Given the description of an element on the screen output the (x, y) to click on. 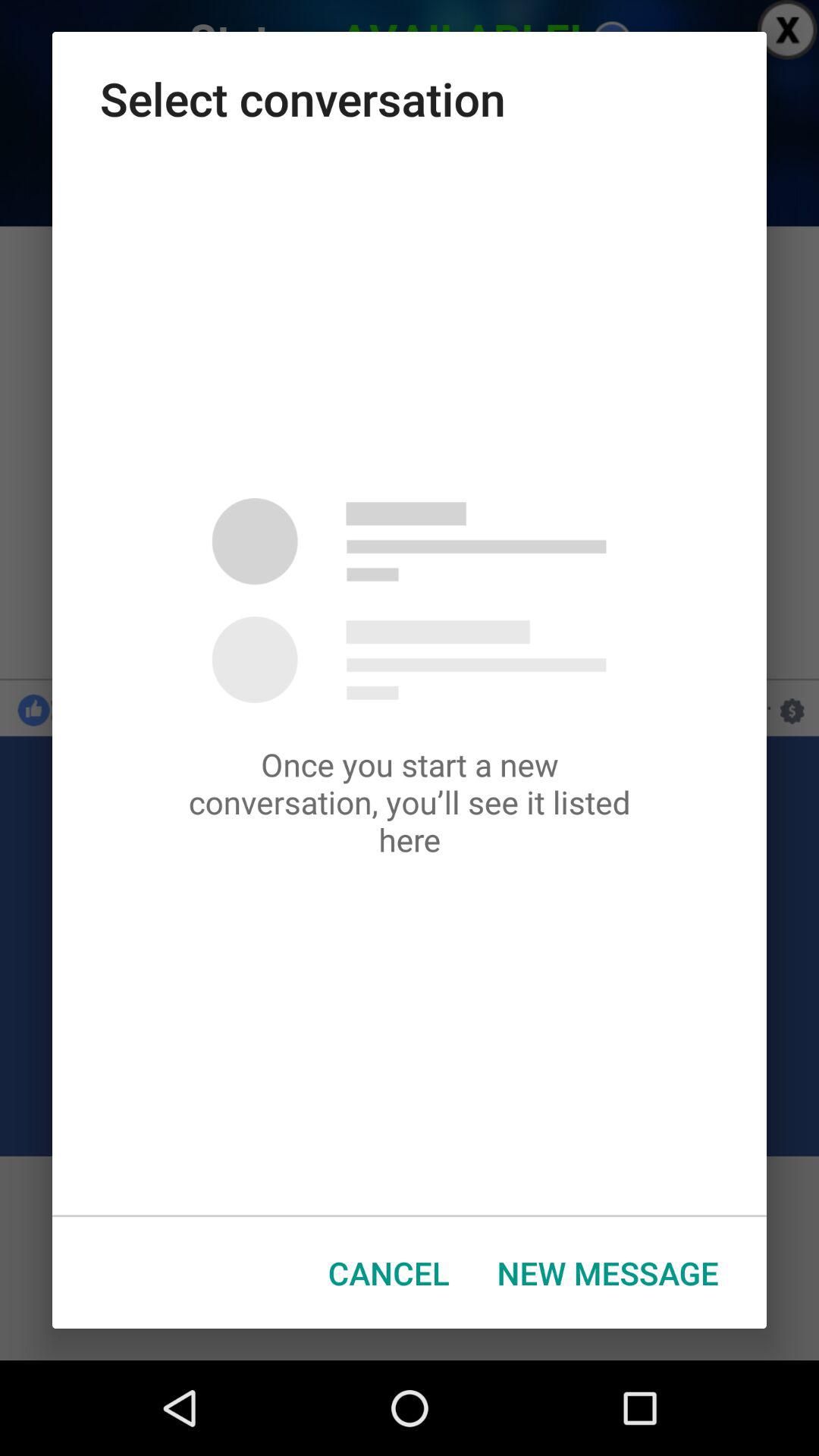
open new message (607, 1272)
